Given the description of an element on the screen output the (x, y) to click on. 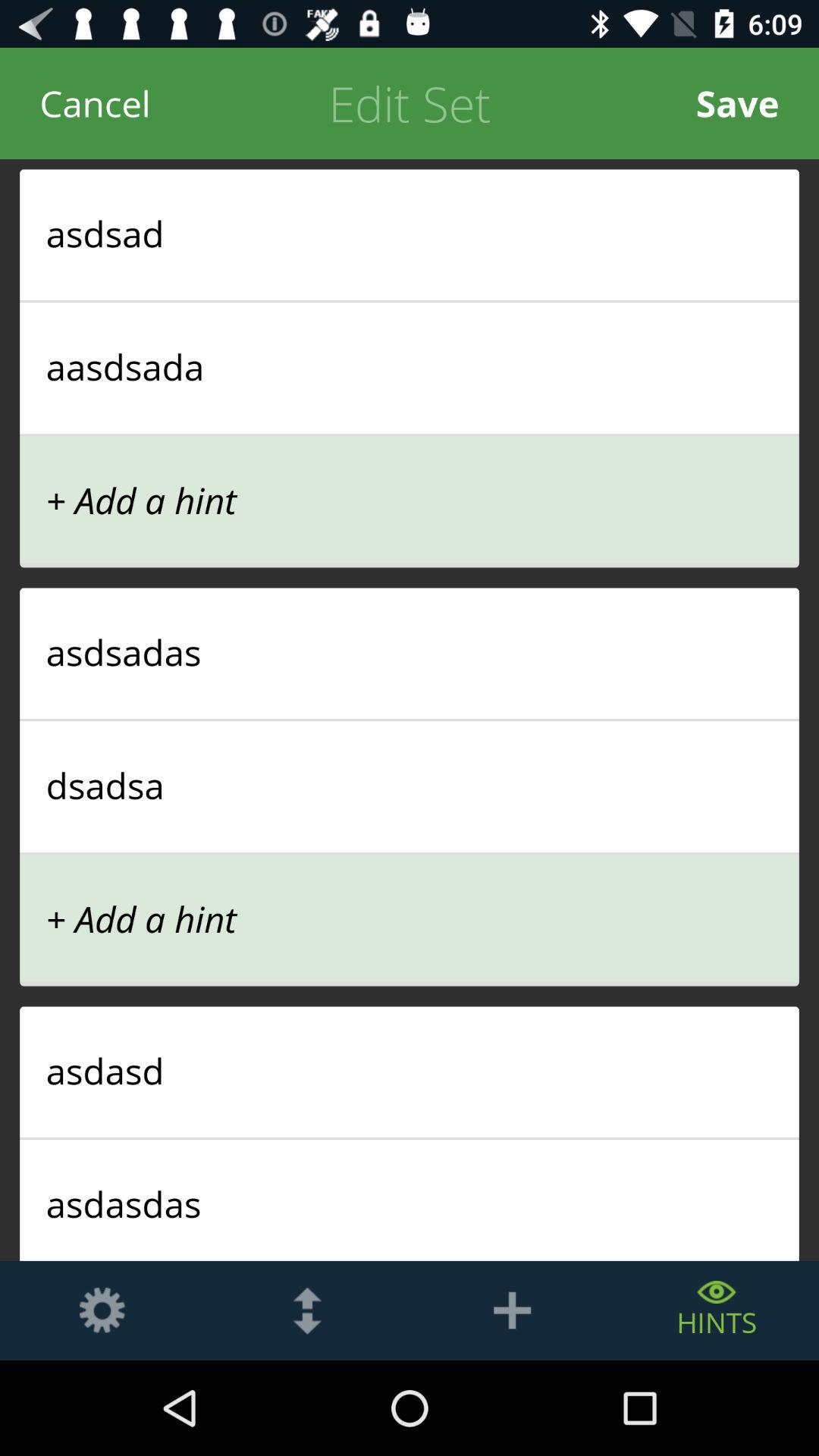
open item next to the edit set (95, 103)
